Given the description of an element on the screen output the (x, y) to click on. 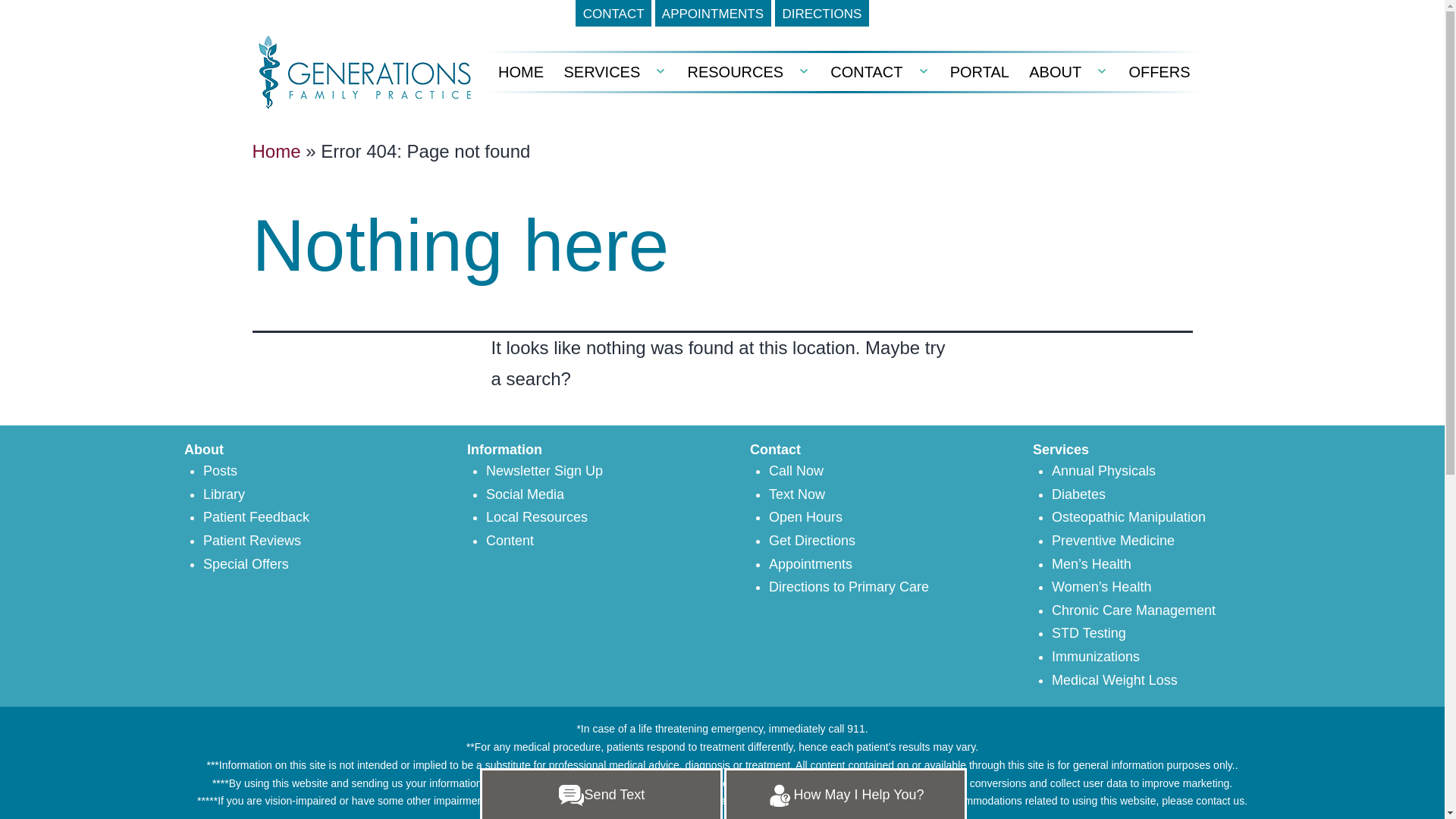
RESOURCES (735, 71)
SERVICES (601, 71)
DIRECTIONS (821, 13)
Open menu (660, 71)
HOME (520, 71)
APPOINTMENTS (713, 13)
Open menu (804, 71)
CONTACT (612, 13)
